Given the description of an element on the screen output the (x, y) to click on. 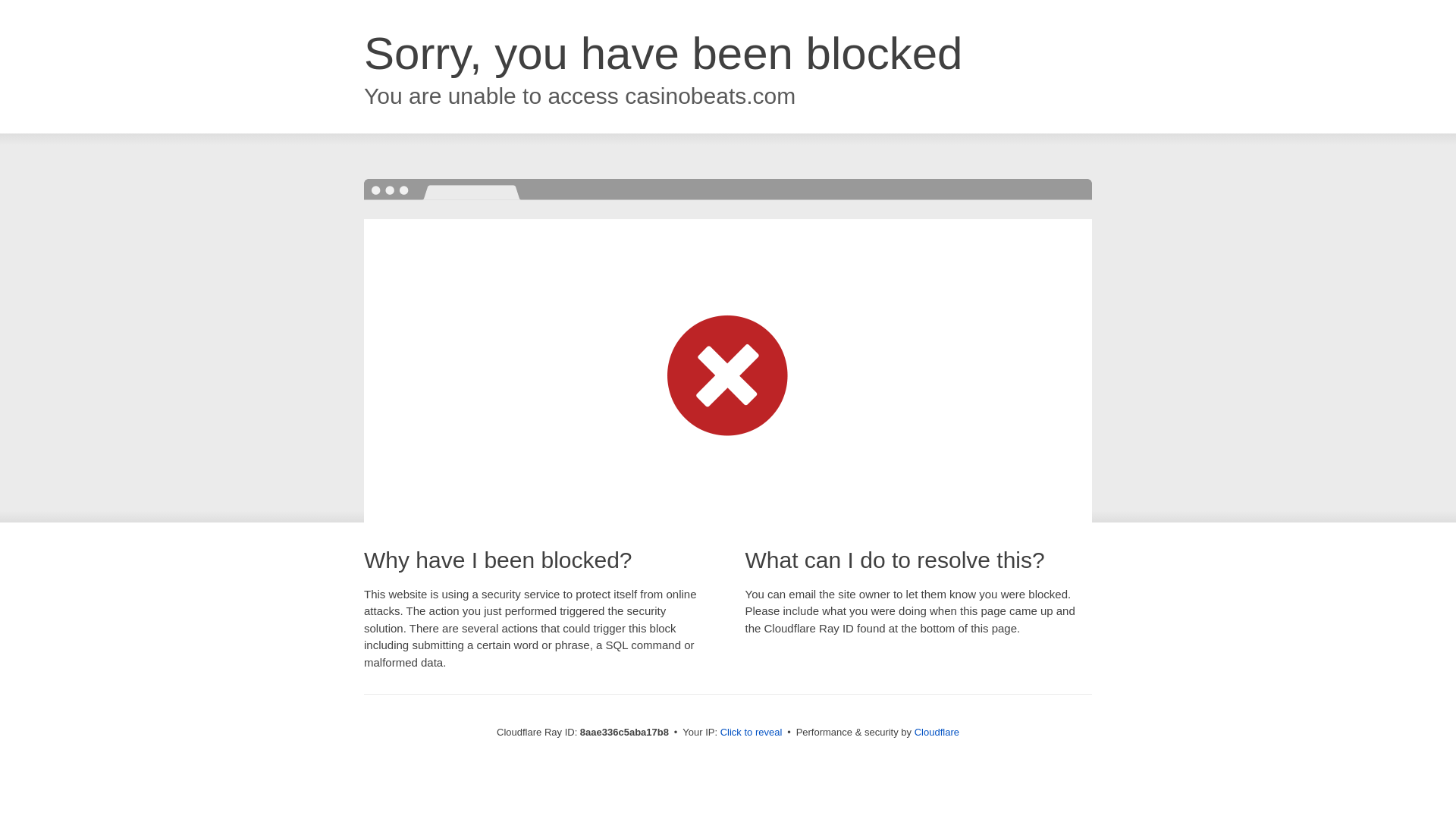
Cloudflare (936, 731)
Click to reveal (751, 732)
